Given the description of an element on the screen output the (x, y) to click on. 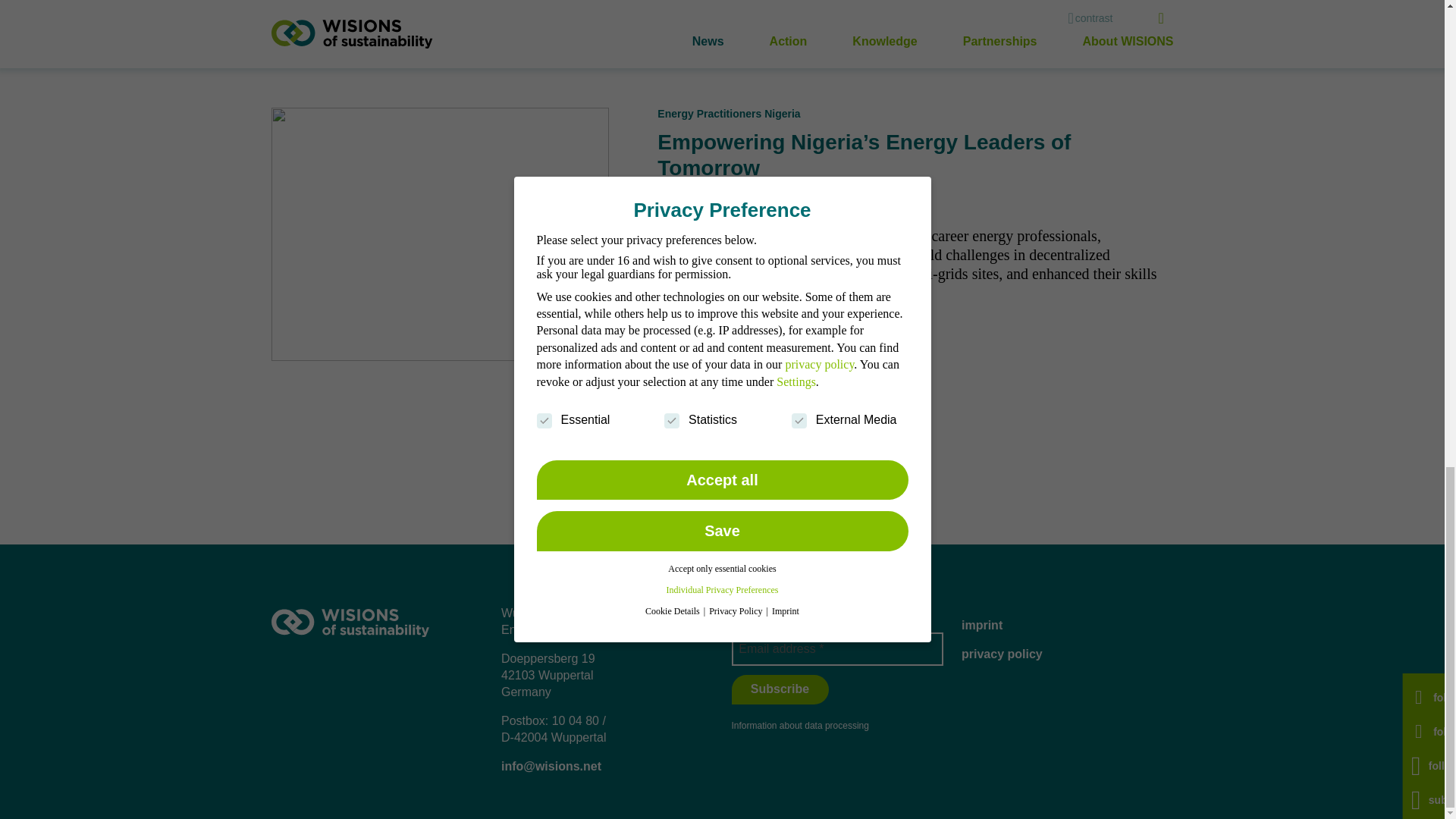
read more (706, 355)
WISIONS (349, 623)
Subscribe (779, 689)
WISIONS (376, 625)
Subscribe (779, 689)
Email address (836, 648)
